Given the description of an element on the screen output the (x, y) to click on. 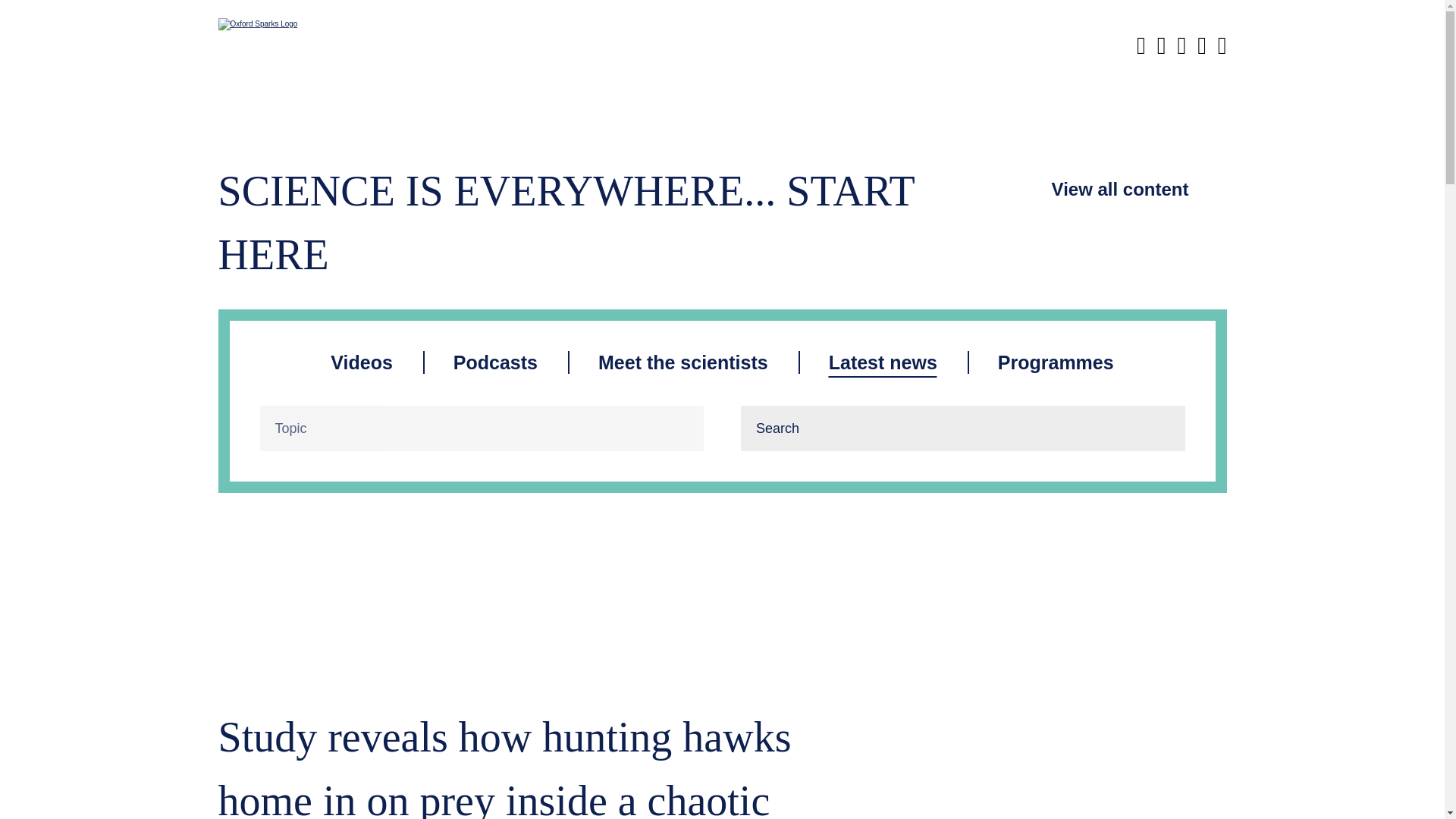
Meet the scientists (683, 362)
Oxford Sparks (273, 24)
Programmes (1055, 362)
Latest news (882, 362)
Videos (361, 362)
Podcasts (494, 362)
Search (1161, 428)
View all content (1120, 189)
